Given the description of an element on the screen output the (x, y) to click on. 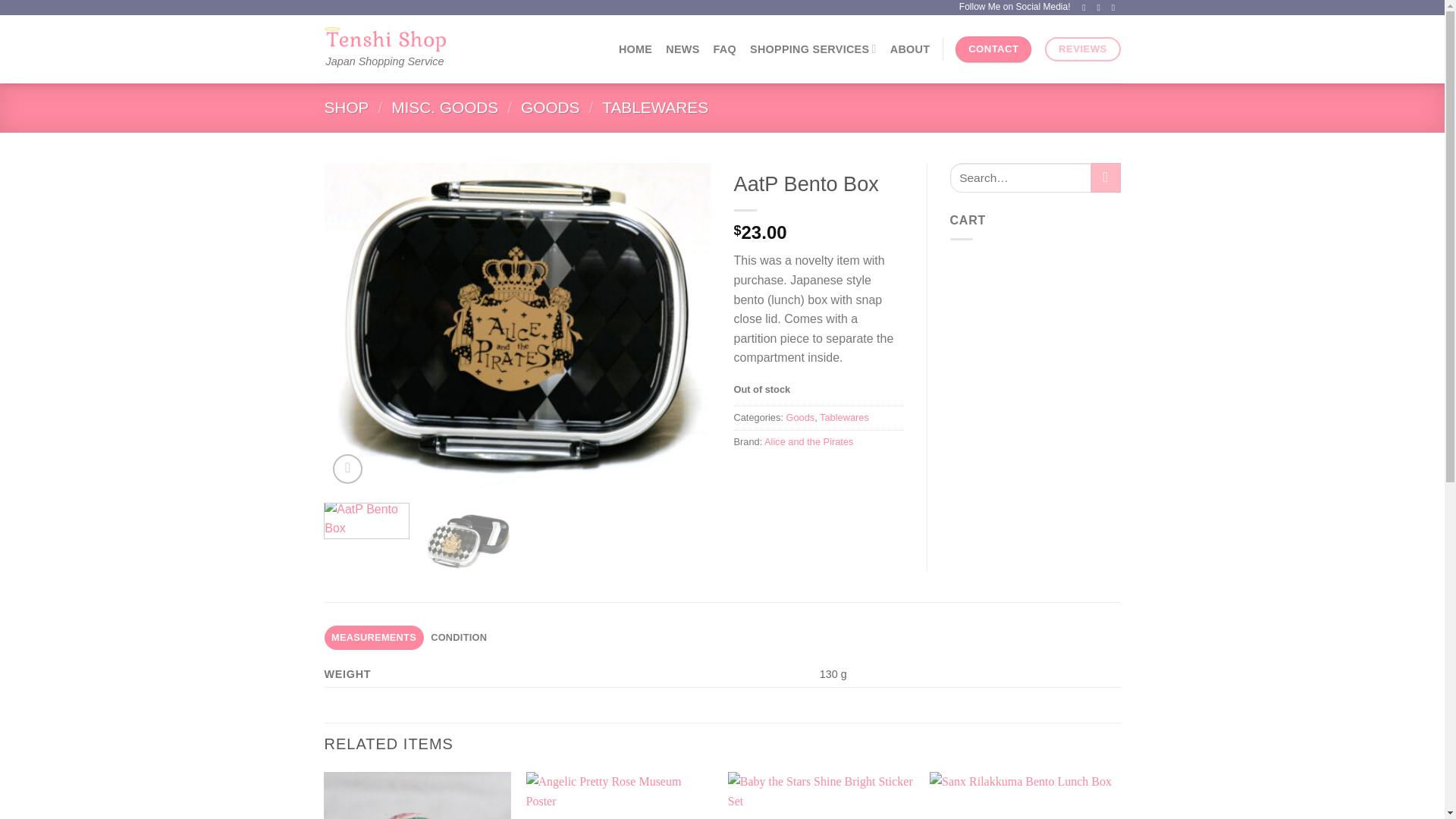
NEWS (681, 49)
GOODS (550, 107)
TABLEWARES (654, 107)
Tenshi Shop - Japan Shopping Service (384, 39)
SHOP (346, 107)
MISC. GOODS (444, 107)
ABOUT (909, 49)
Alice and the Pirates (808, 441)
HOME (635, 49)
CONTACT (992, 49)
Search (1105, 177)
REVIEWS (1082, 49)
SHOPPING SERVICES (812, 48)
CONDITION (459, 637)
MEASUREMENTS (373, 637)
